Given the description of an element on the screen output the (x, y) to click on. 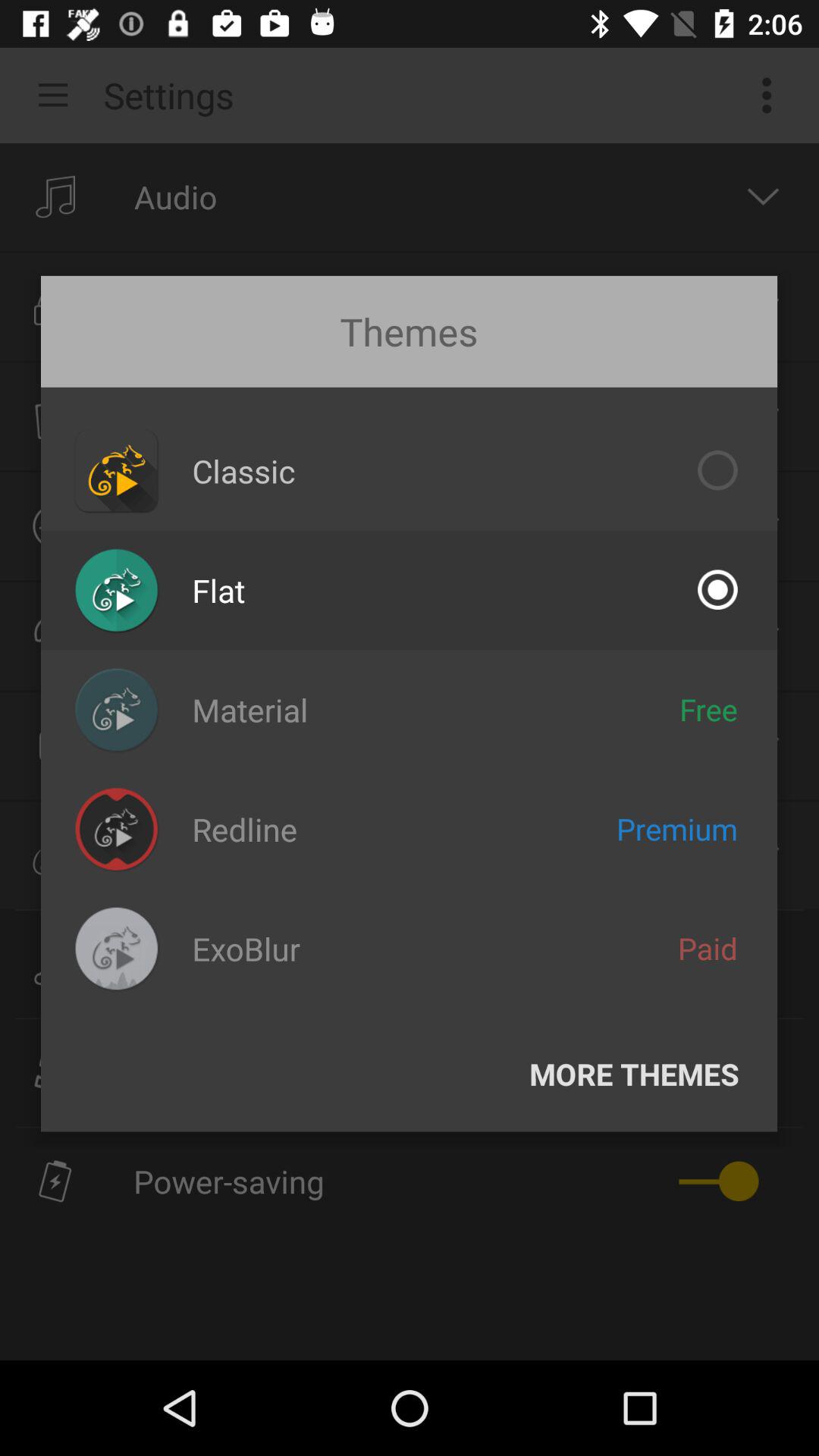
flip to classic (243, 470)
